Given the description of an element on the screen output the (x, y) to click on. 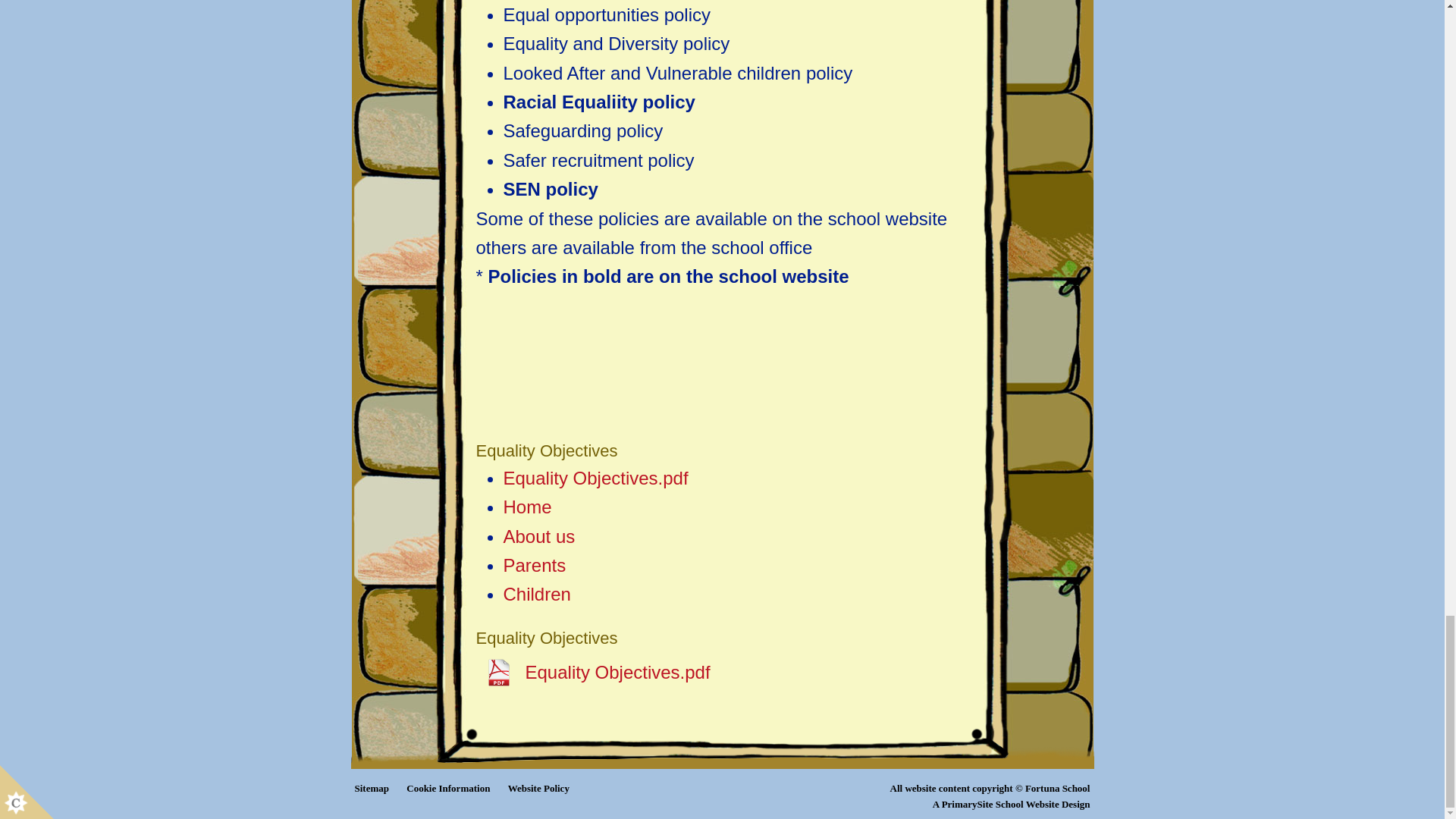
Home (527, 506)
Equality Objectives.pdf (593, 672)
Parents (534, 565)
About us (539, 536)
Children (536, 593)
Equality Objectives.pdf (595, 477)
